Given the description of an element on the screen output the (x, y) to click on. 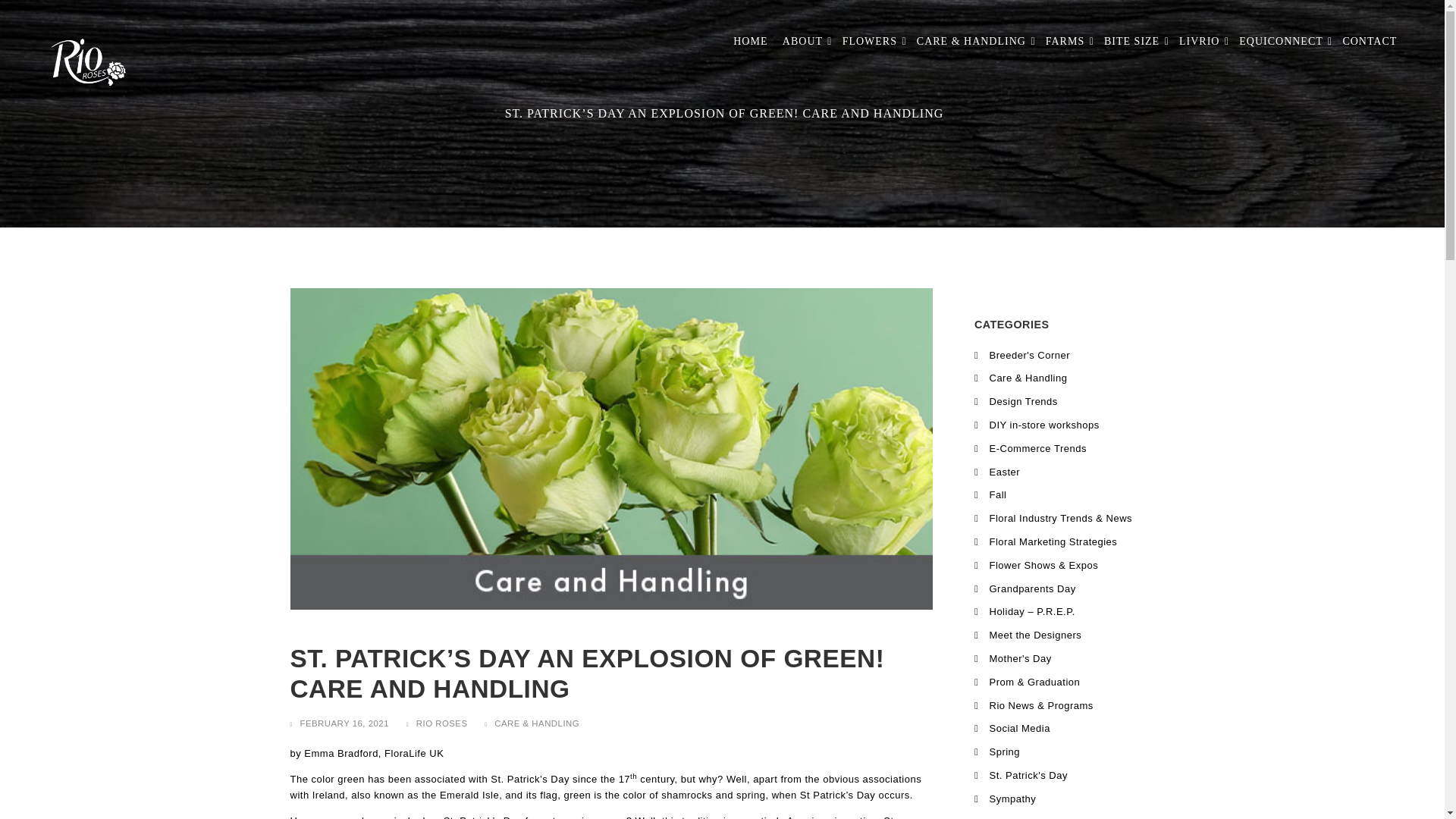
Rio Roses (87, 43)
HOME (748, 41)
FLOWERS (870, 41)
ABOUT (803, 41)
